Given the description of an element on the screen output the (x, y) to click on. 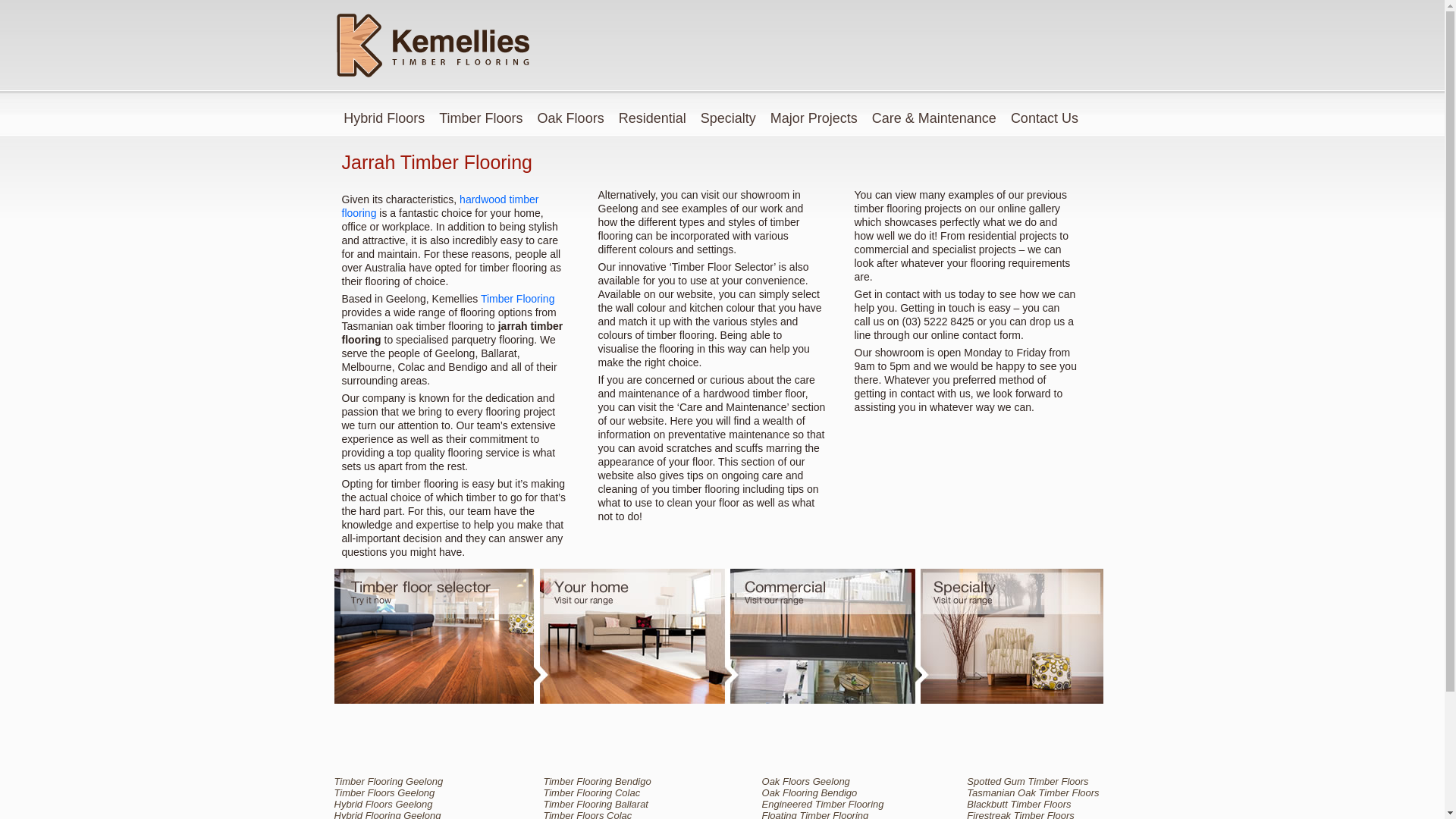
Hybrid Floors Element type: text (384, 115)
Tasmanian Oak Timber Floors Element type: text (1038, 792)
Oak Floors Geelong Element type: text (829, 781)
Care & Maintenance Element type: text (934, 114)
Blackbutt Timber Floors Element type: text (1038, 803)
Hybrid Floors Geelong Element type: text (402, 803)
Engineered Timber Flooring Element type: text (829, 803)
Residential Element type: text (652, 114)
Oak Flooring Bendigo Element type: text (829, 792)
Timber Floors Geelong Element type: text (402, 792)
Timber Flooring Element type: text (517, 298)
Major Projects Element type: text (814, 114)
Timber Floors Element type: text (481, 114)
Spotted Gum Timber Floors Element type: text (1038, 781)
Timber Flooring Geelong Element type: text (402, 781)
Timber Flooring Ballarat Element type: text (616, 803)
hardwood timber flooring Element type: text (439, 206)
Timber Flooring Bendigo Element type: text (616, 781)
Oak Floors Element type: text (570, 114)
Contact Us Element type: text (1046, 114)
Timber Flooring Colac Element type: text (616, 792)
Specialty Element type: text (728, 114)
